Given the description of an element on the screen output the (x, y) to click on. 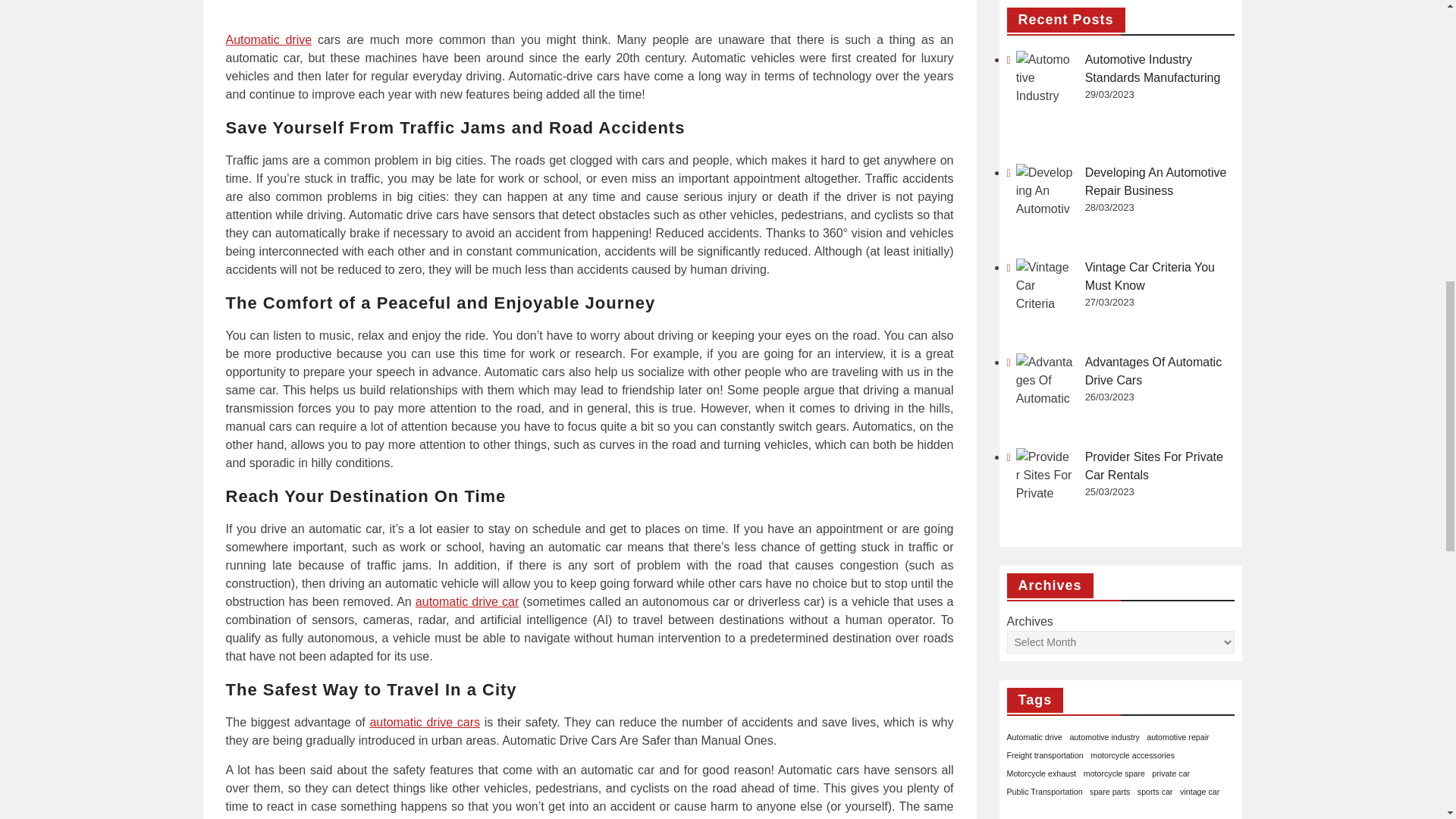
Freight transportation (1045, 278)
automatic drive car (466, 601)
automotive industry (1103, 260)
automotive repair (1177, 260)
Provider Sites For Private Car Rentals (1153, 2)
automatic drive cars (424, 721)
Automatic drive (1034, 260)
Automatic drive (269, 39)
Advantages Of Automatic Drive Cars (589, 9)
Provider Sites For Private Car Rentals (1044, 14)
